Given the description of an element on the screen output the (x, y) to click on. 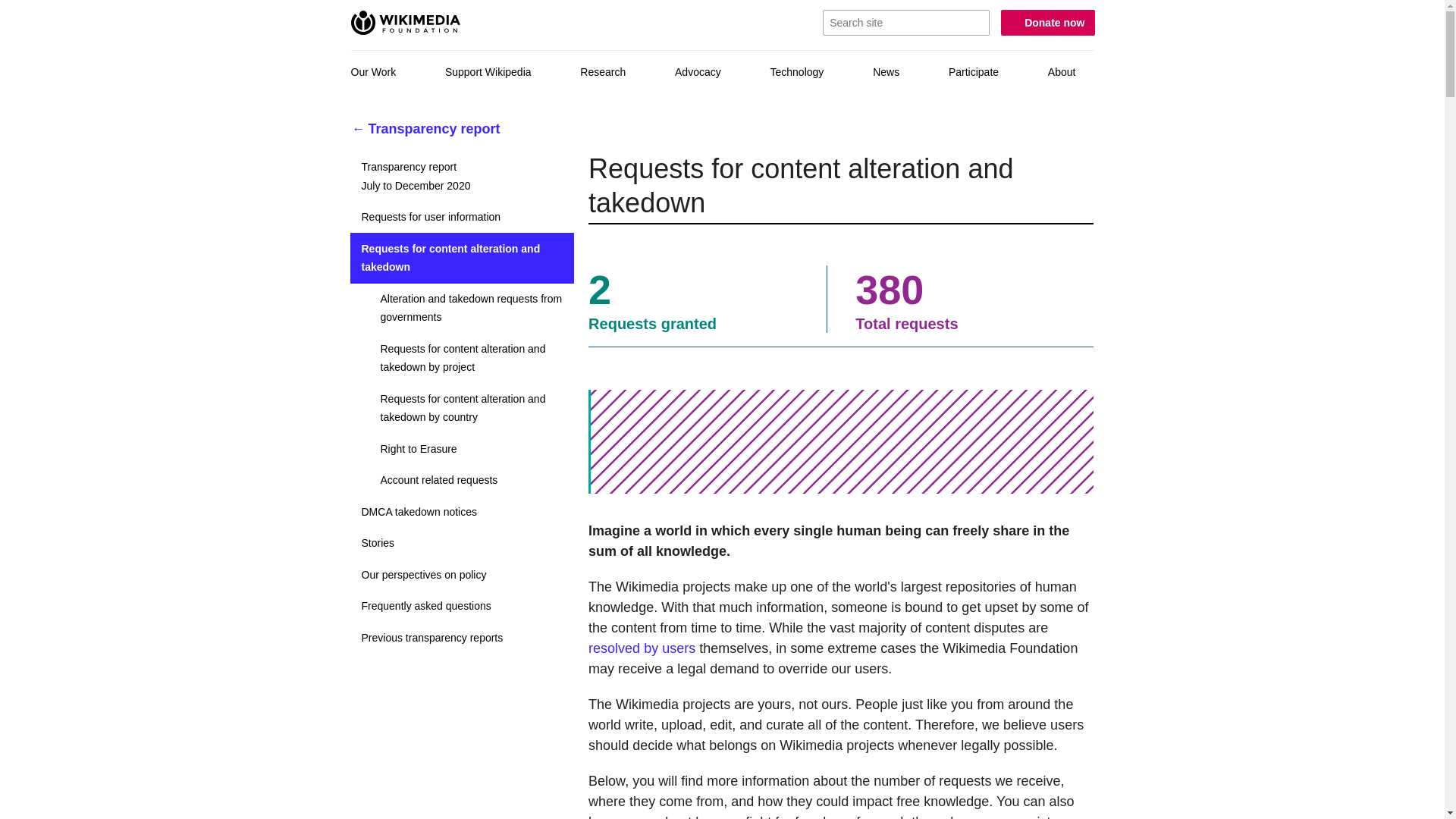
Our Work (373, 71)
Search for: (906, 22)
Our perspectives on policy (462, 175)
DMCA takedown notices (462, 573)
Previous transparency reports (462, 512)
resolved by users (462, 637)
Technology (641, 647)
Requests for content alteration and takedown by country (797, 71)
Support Wikipedia (462, 407)
Account related requests (488, 71)
Transparency report (462, 480)
Alteration and takedown requests from governments (426, 128)
Requests for user information (462, 306)
Frequently asked questions (462, 216)
